Given the description of an element on the screen output the (x, y) to click on. 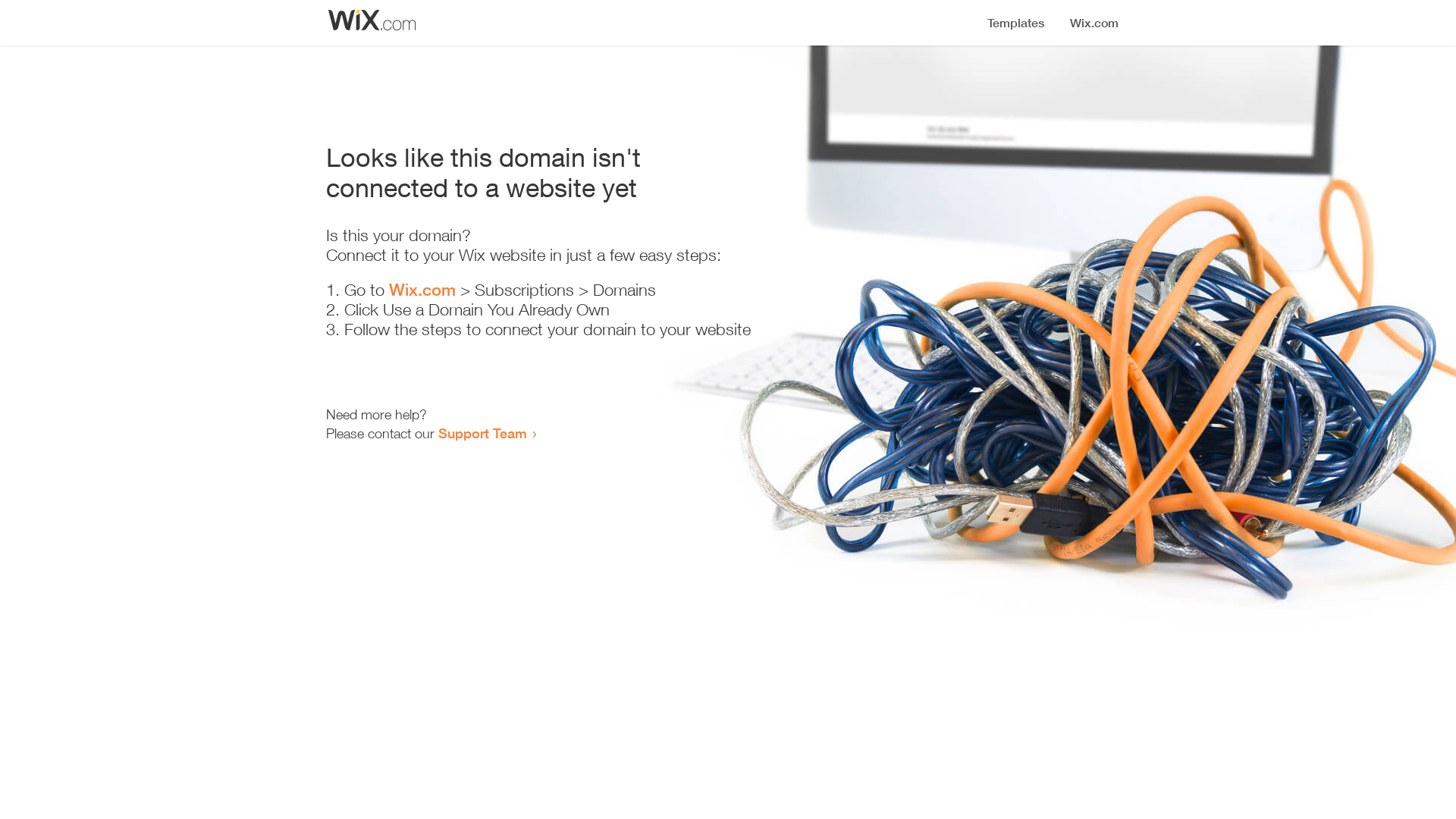
Support Team Element type: text (482, 432)
Wix.com Element type: text (422, 289)
